Given the description of an element on the screen output the (x, y) to click on. 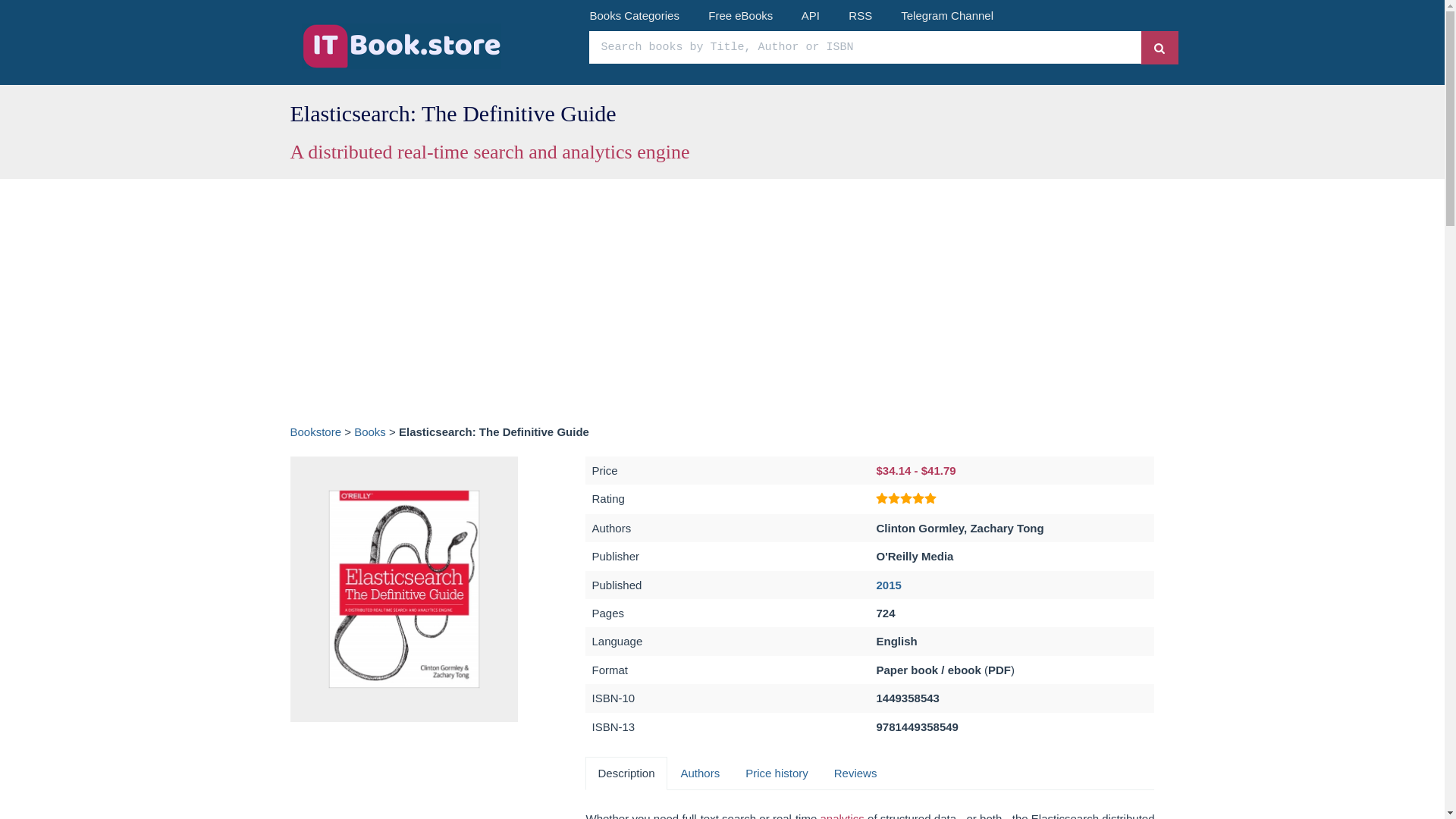
Analytics Books (842, 815)
2015 (888, 584)
IT Bookstore (434, 45)
Books Categories (633, 15)
Free eBooks (740, 15)
IT Books of 2015 (888, 584)
Telegram Channel (946, 15)
Books (369, 431)
Price history (777, 772)
analytics (842, 815)
Book ratings (906, 498)
RSS (860, 15)
API (810, 15)
RSS Feed (860, 15)
